Given the description of an element on the screen output the (x, y) to click on. 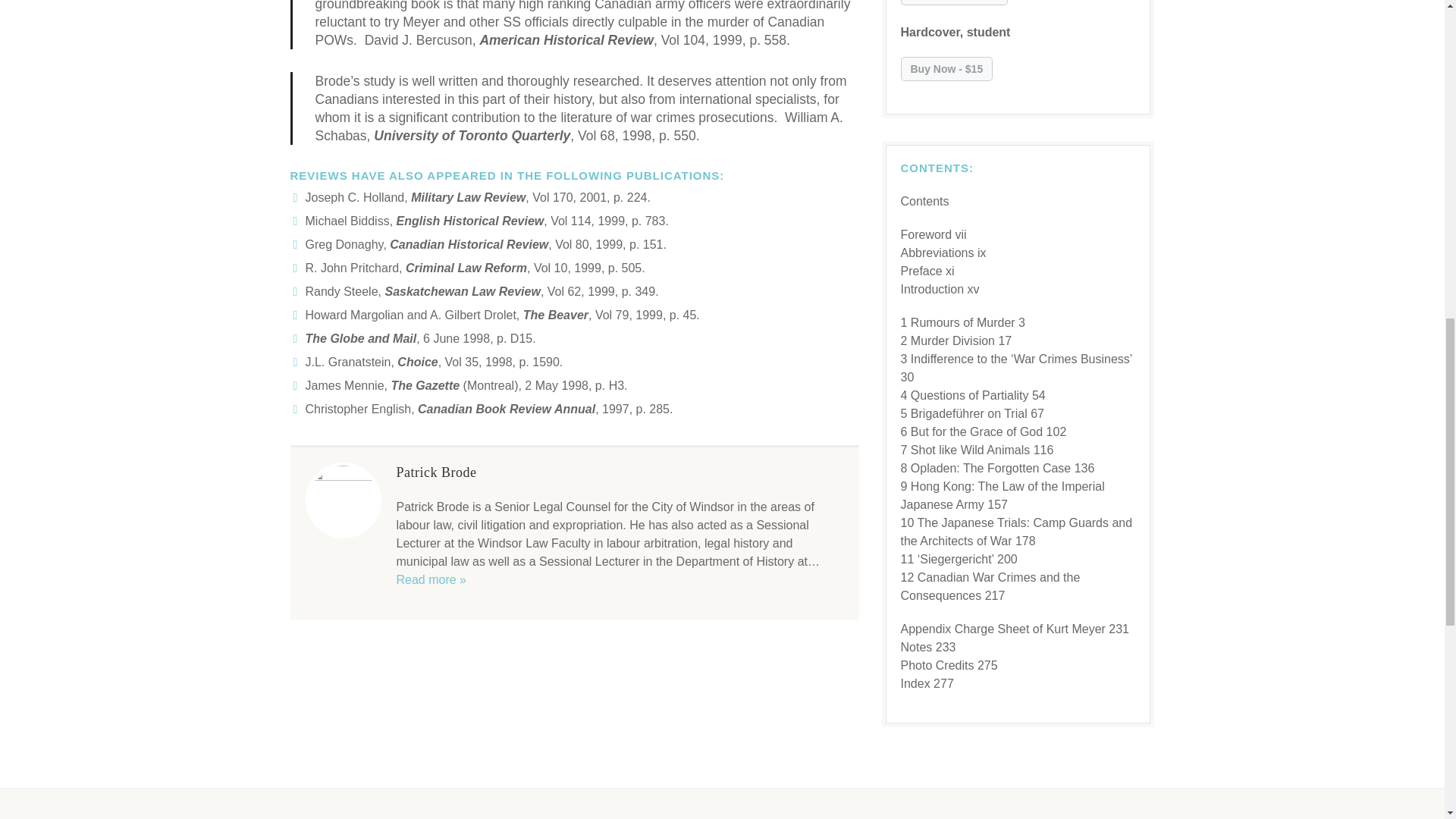
ReadPatrick Brode (430, 579)
